Given the description of an element on the screen output the (x, y) to click on. 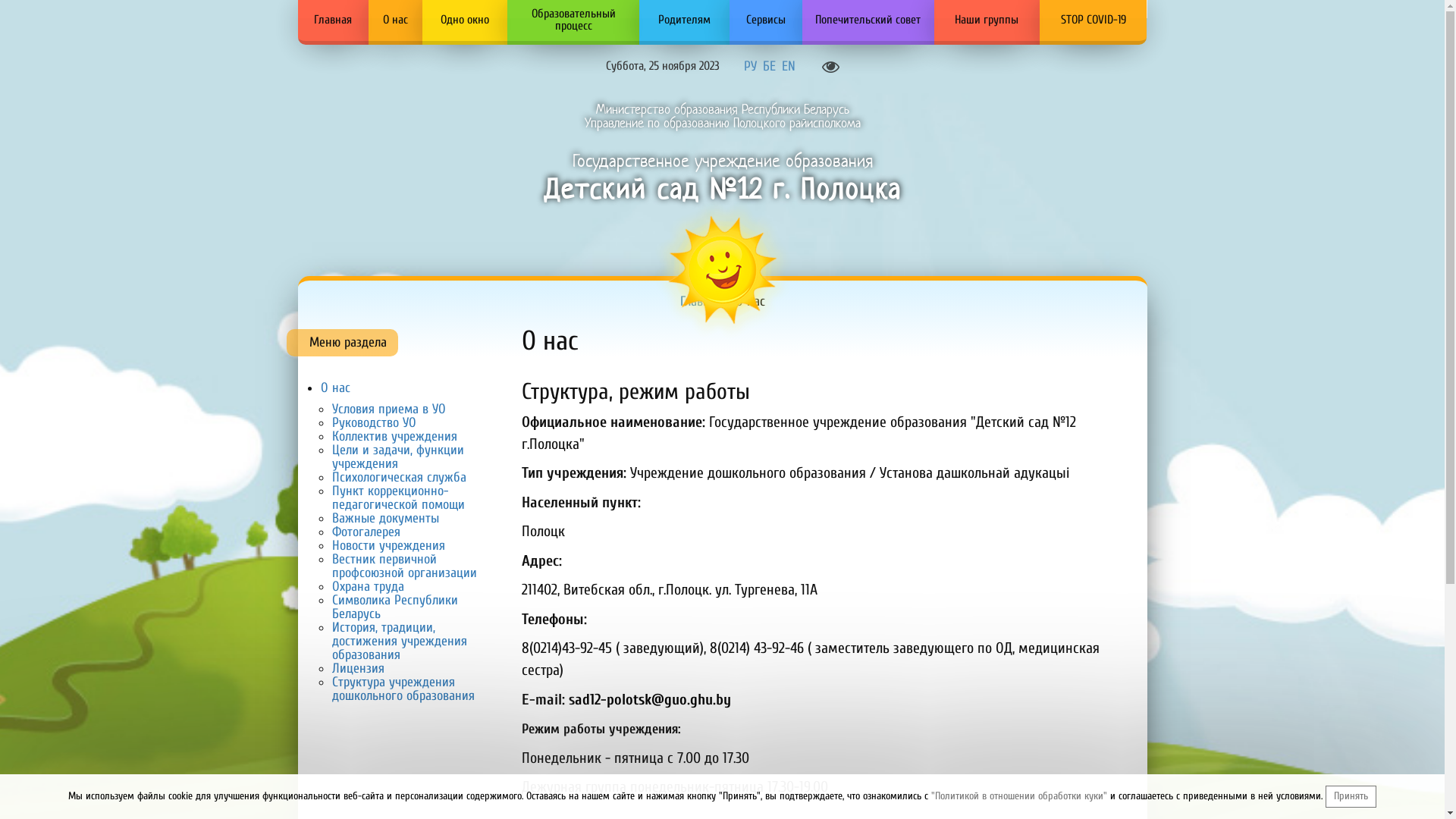
STOP COVID-19 Element type: text (1093, 20)
EN Element type: text (787, 65)
